Given the description of an element on the screen output the (x, y) to click on. 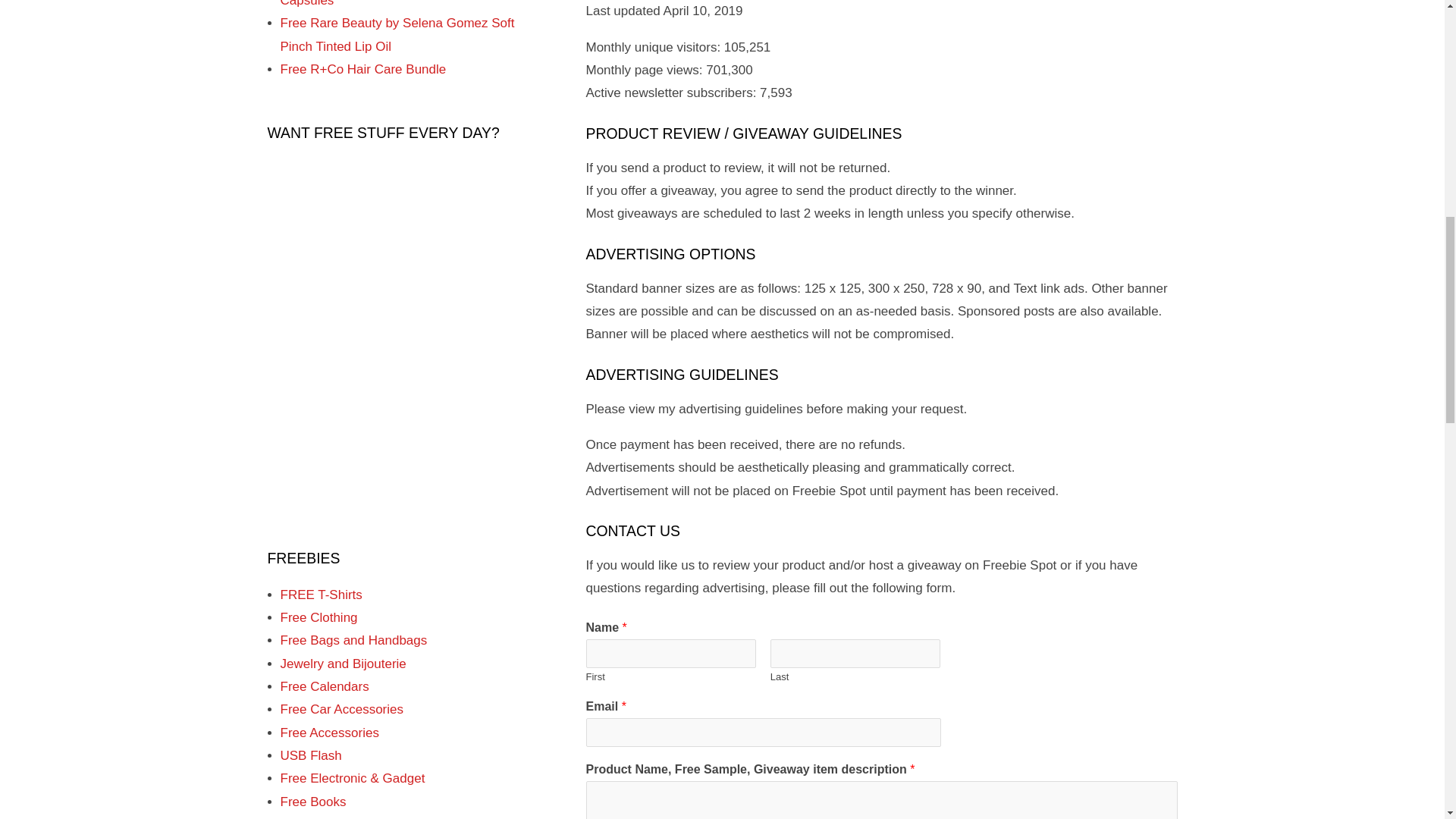
Free Clothing (319, 700)
Free Calendars (325, 769)
Jewelry and Bijouterie (343, 747)
FREE T-Shirts (321, 677)
Free Genabelle Skincare PDRN Rejuvenating Mask Sample (372, 57)
Free Accessories (329, 814)
Free Car Accessories (342, 792)
Free Bags and Handbags (354, 723)
